Given the description of an element on the screen output the (x, y) to click on. 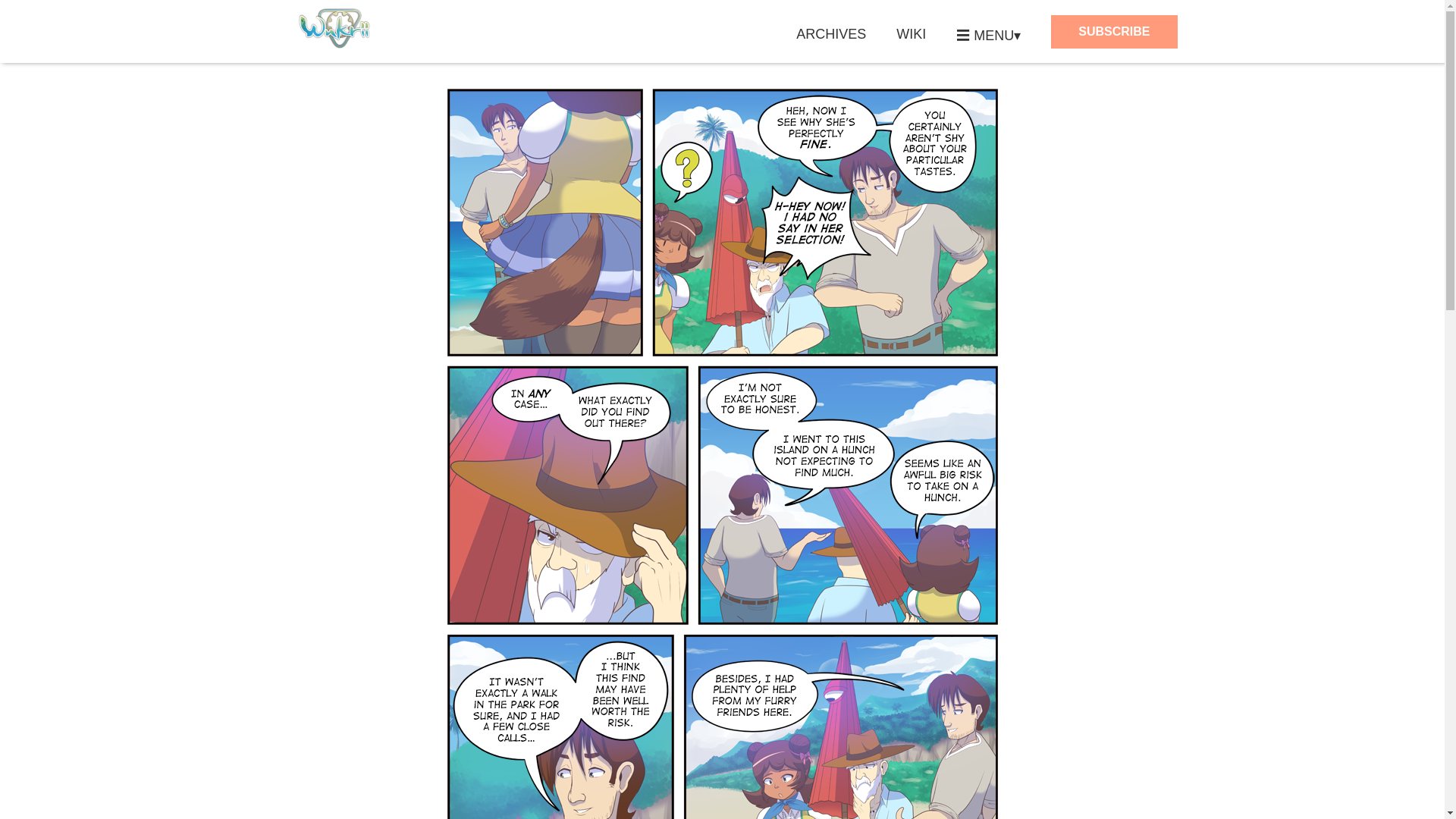
SUBSCRIBE (1113, 31)
ARCHIVES (831, 34)
WIKI (911, 34)
